Given the description of an element on the screen output the (x, y) to click on. 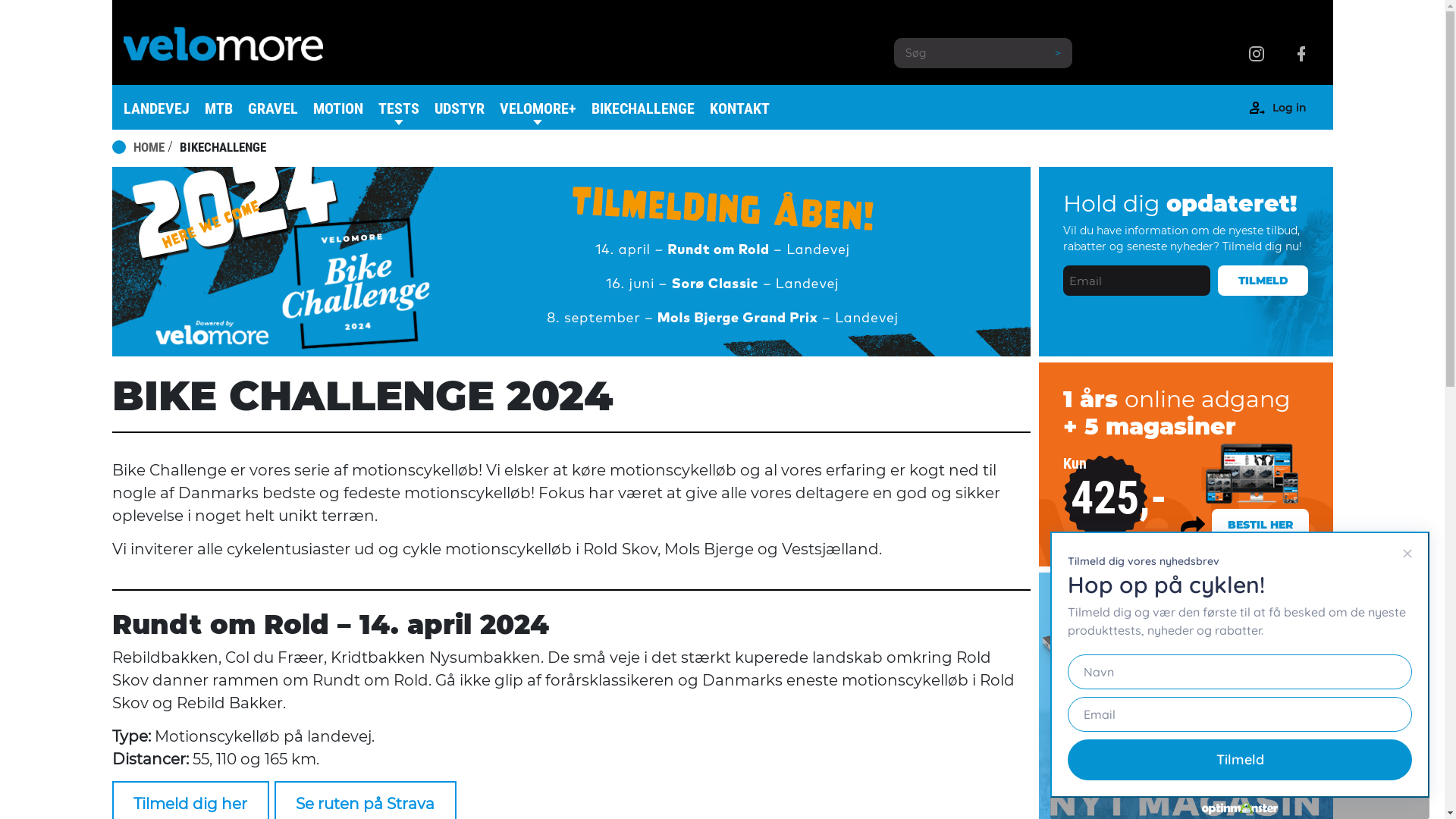
Powered by OptinMonster Element type: hover (1239, 808)
LANDEVEJ Element type: text (155, 108)
VELOMORE+ Element type: text (536, 108)
UDSTYR Element type: text (458, 108)
BIKECHALLENGE Element type: text (221, 147)
BIKECHALLENGE Element type: text (642, 108)
KONTAKT Element type: text (739, 108)
HOME Element type: text (148, 147)
Tilmeld Element type: text (1262, 280)
MTB Element type: text (218, 108)
MOTION Element type: text (337, 108)
Close Element type: hover (1407, 553)
BESTIL HER Element type: text (1259, 523)
GRAVEL Element type: text (272, 108)
> Element type: text (1057, 52)
Tilmeld Element type: text (1239, 759)
Log in Element type: text (1289, 110)
TESTS Element type: text (397, 108)
